Given the description of an element on the screen output the (x, y) to click on. 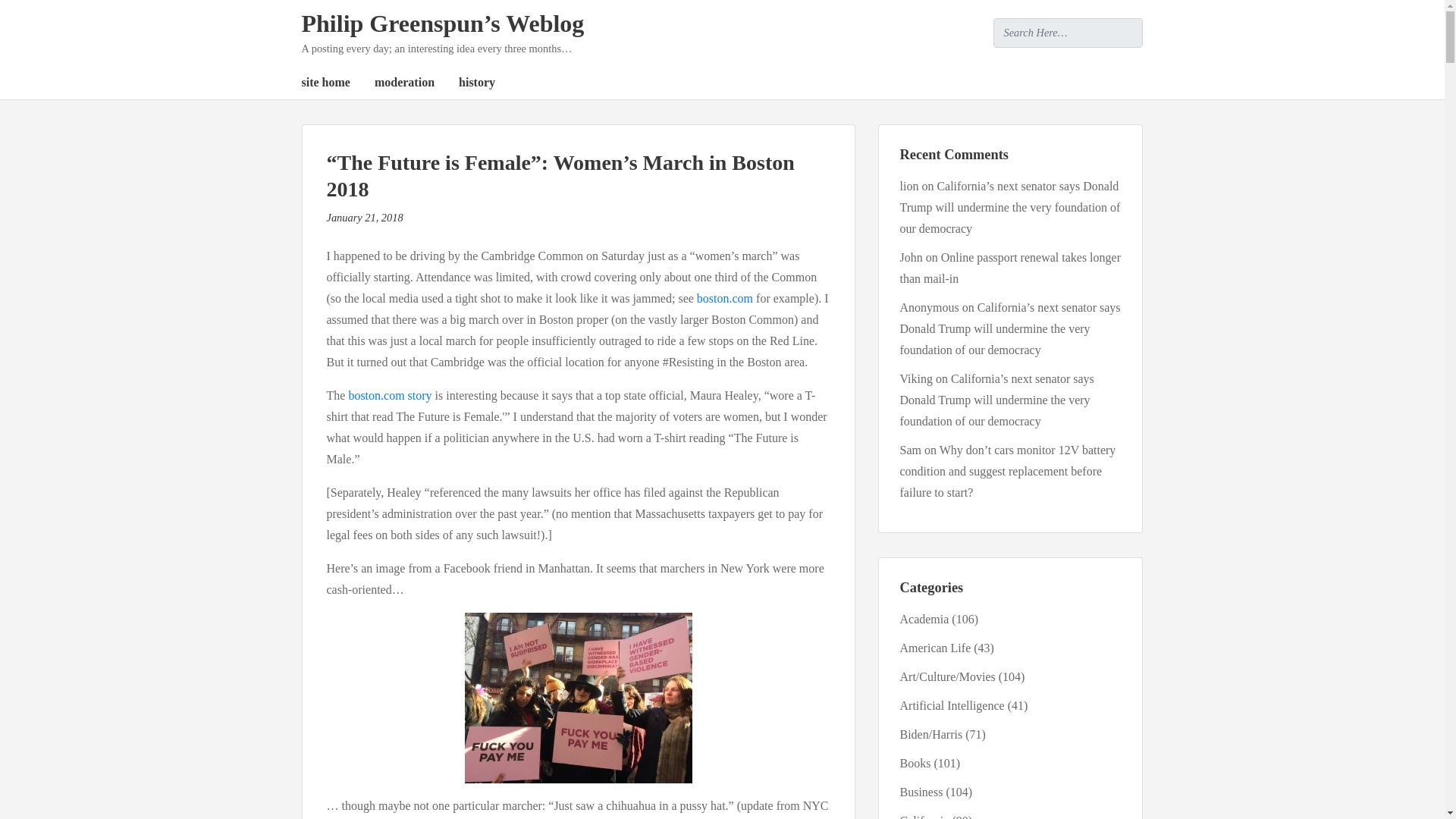
history (476, 82)
site home (325, 82)
boston.com story (388, 395)
January 21, 2018 (364, 217)
moderation (403, 82)
boston.com (724, 297)
